Given the description of an element on the screen output the (x, y) to click on. 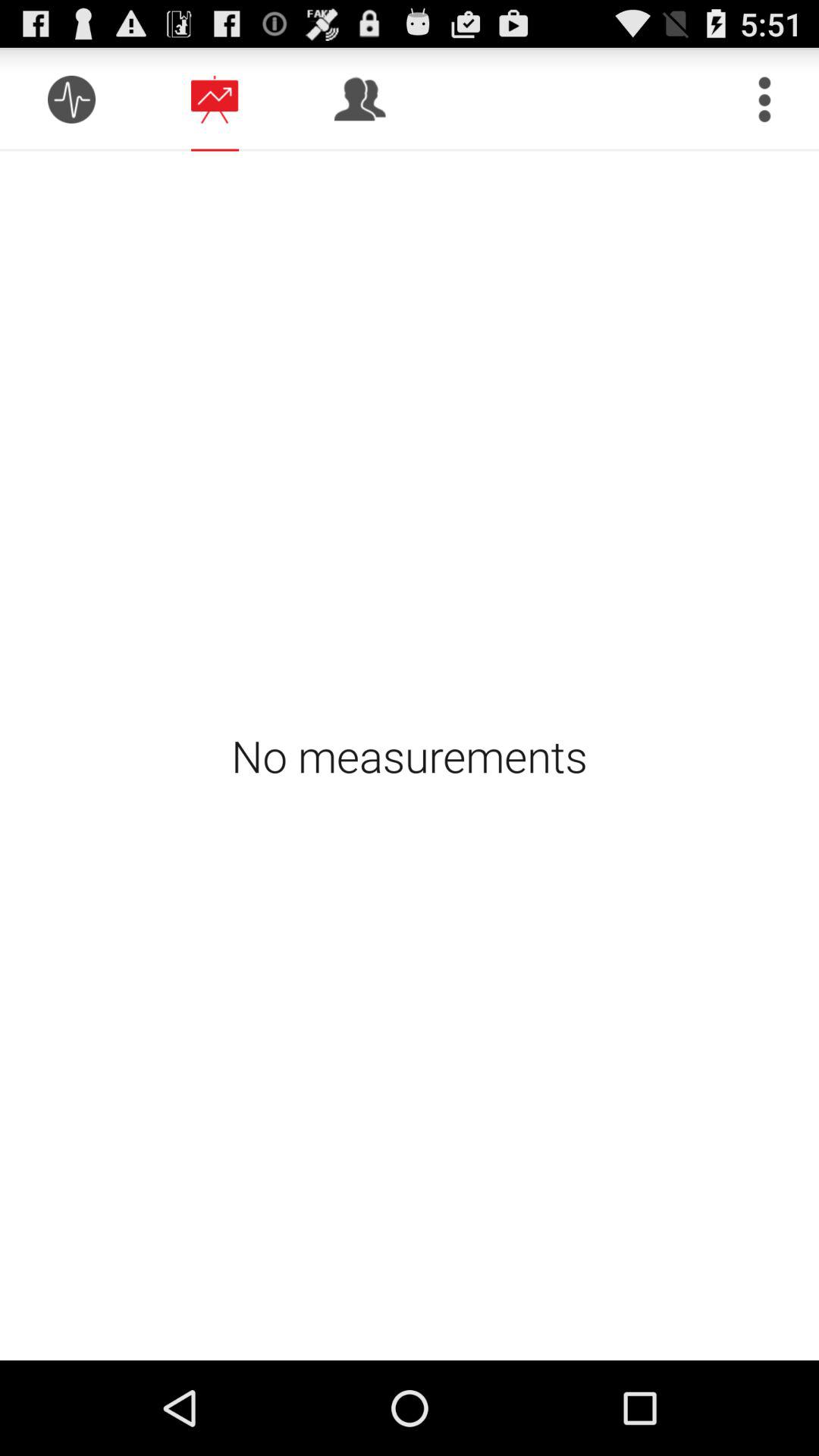
choose icon at the top right corner (764, 99)
